Given the description of an element on the screen output the (x, y) to click on. 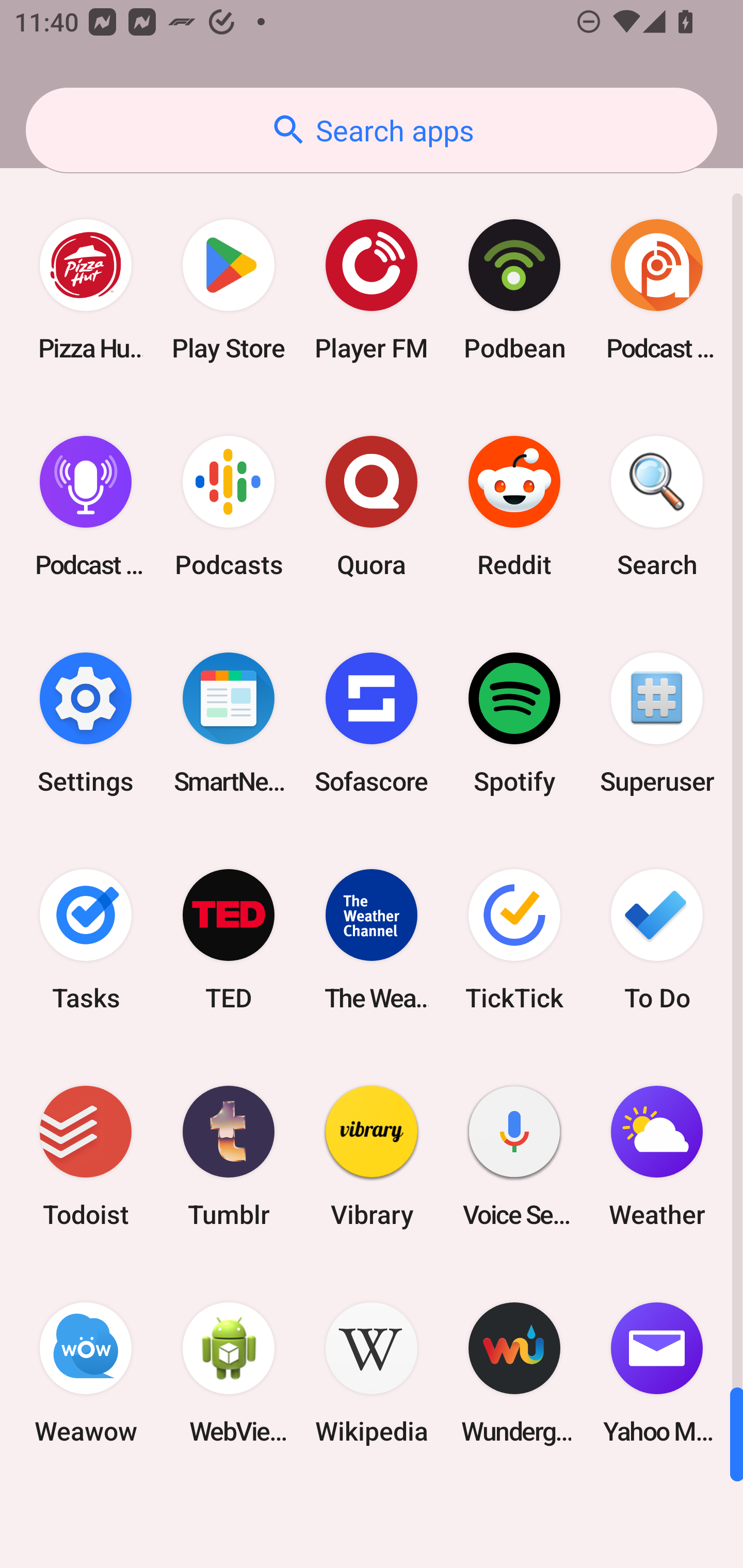
  Search apps (371, 130)
Pizza Hut HK & Macau (85, 289)
Play Store (228, 289)
Player FM (371, 289)
Podbean (514, 289)
Podcast Addict (656, 289)
Podcast Player (85, 506)
Podcasts (228, 506)
Quora (371, 506)
Reddit (514, 506)
Search (656, 506)
Settings (85, 722)
SmartNews (228, 722)
Sofascore (371, 722)
Spotify (514, 722)
Superuser (656, 722)
Tasks (85, 939)
TED (228, 939)
The Weather Channel (371, 939)
TickTick (514, 939)
To Do (656, 939)
Todoist (85, 1156)
Tumblr (228, 1156)
Vibrary (371, 1156)
Voice Search (514, 1156)
Weather (656, 1156)
Weawow (85, 1373)
WebView Browser Tester (228, 1373)
Wikipedia (371, 1373)
Wunderground (514, 1373)
Yahoo Mail (656, 1373)
